Given the description of an element on the screen output the (x, y) to click on. 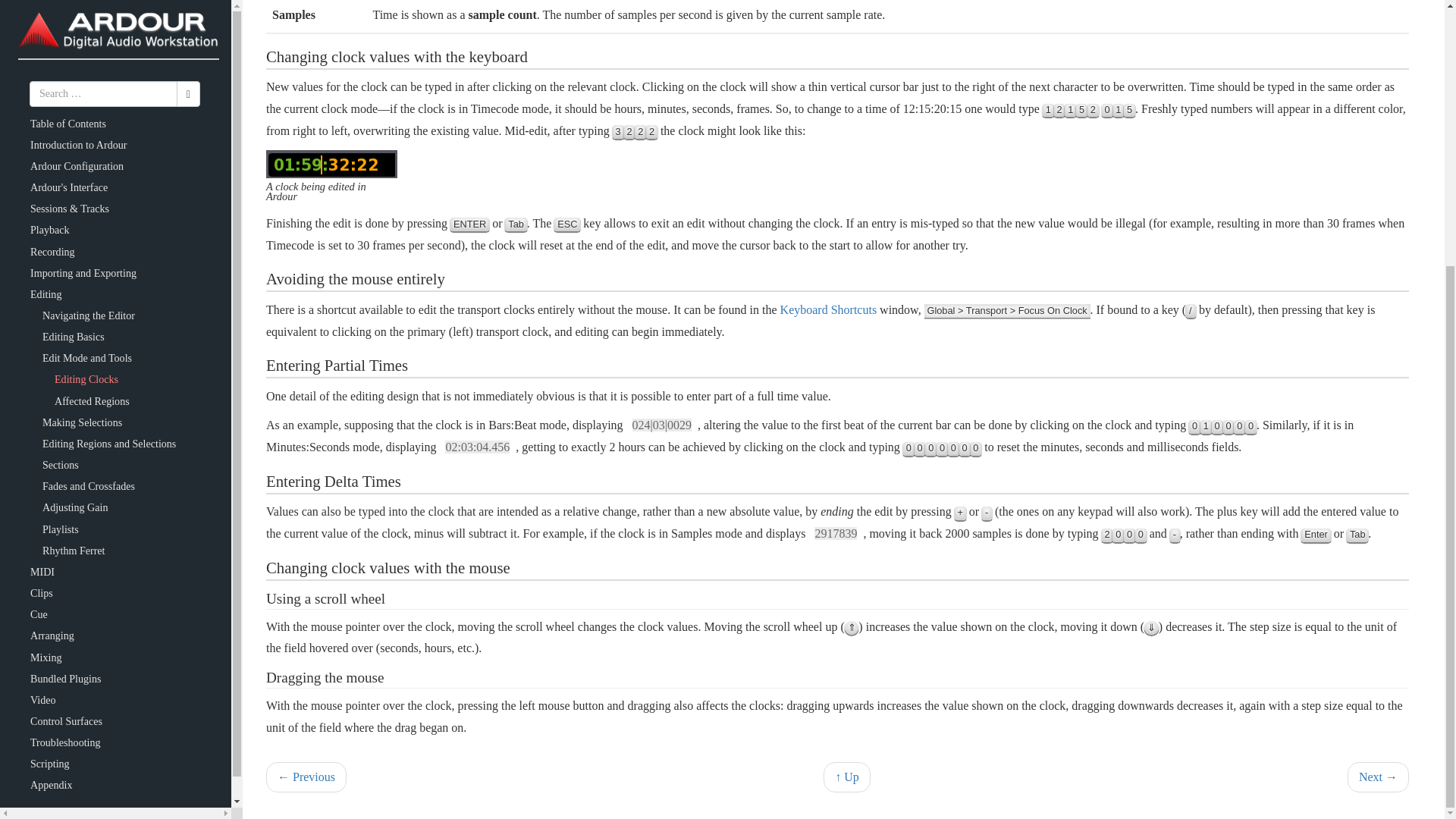
Fades and Crossfades (88, 100)
Which Regions Are Affected? (1378, 777)
Edit Mode and Tools (847, 777)
Scripting (49, 377)
Clips (41, 206)
MIDI (42, 185)
Appendix (51, 399)
Troubleshooting (65, 356)
Rhythm Ferret (73, 164)
Making Selections (82, 36)
Sections (60, 78)
Video (43, 314)
Control Surfaces (65, 335)
Affected Regions (92, 15)
Bundled Plugins (65, 292)
